Given the description of an element on the screen output the (x, y) to click on. 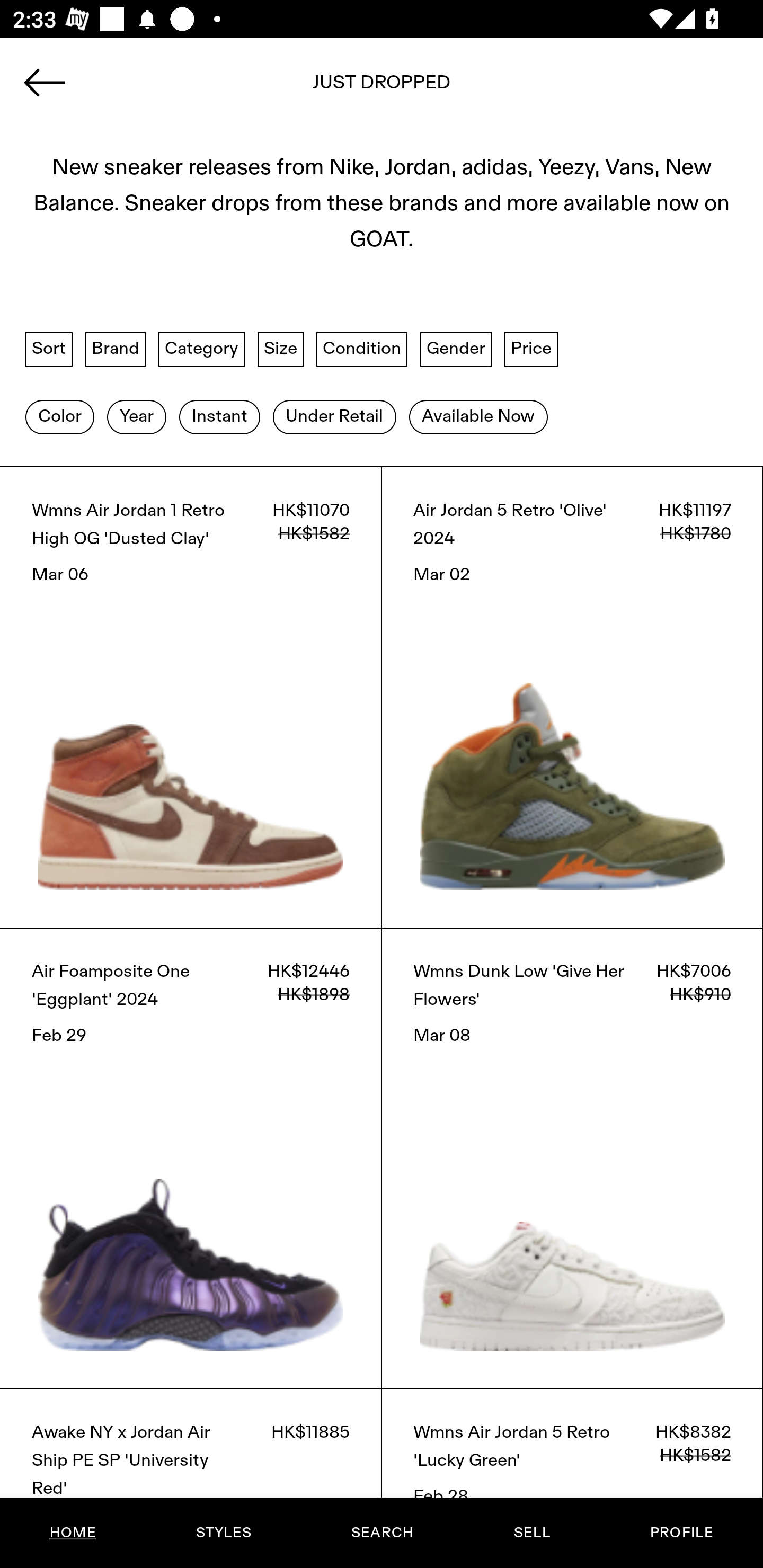
Search (381, 88)
Sort (48, 348)
Brand (115, 348)
Category (201, 348)
Size (280, 348)
Condition (361, 348)
Gender (455, 348)
Price (530, 348)
Color (59, 416)
Year (136, 416)
Instant (219, 416)
Under Retail (334, 416)
Available Now (477, 416)
HOME (72, 1532)
STYLES (222, 1532)
SEARCH (381, 1532)
SELL (531, 1532)
PROFILE (681, 1532)
